Given the description of an element on the screen output the (x, y) to click on. 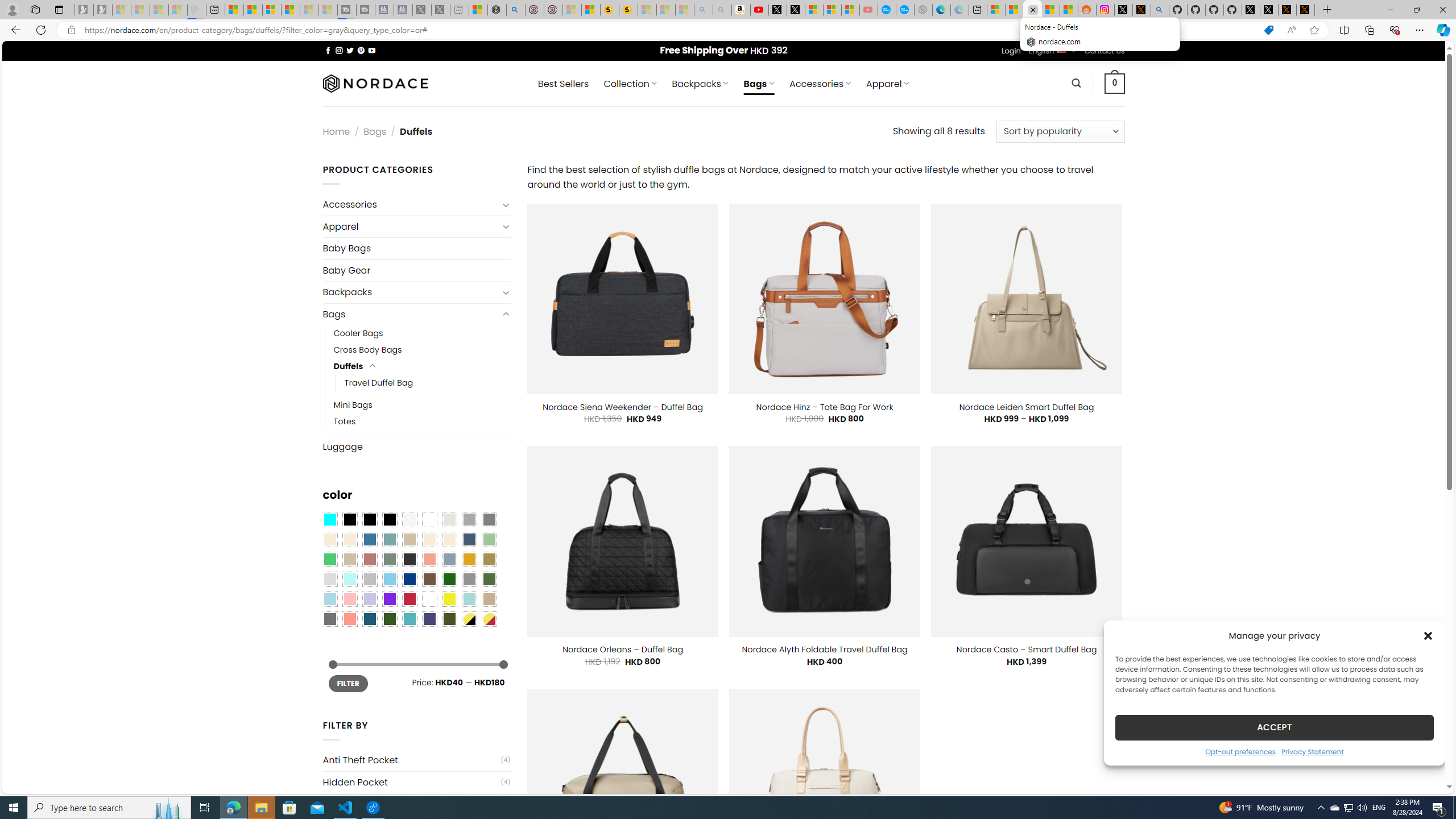
Overview (271, 9)
Mini Bags (352, 404)
Caramel (429, 539)
Sky Blue (389, 579)
Mint (349, 579)
Class: cmplz-close (1428, 635)
Emerald Green (329, 559)
